Given the description of an element on the screen output the (x, y) to click on. 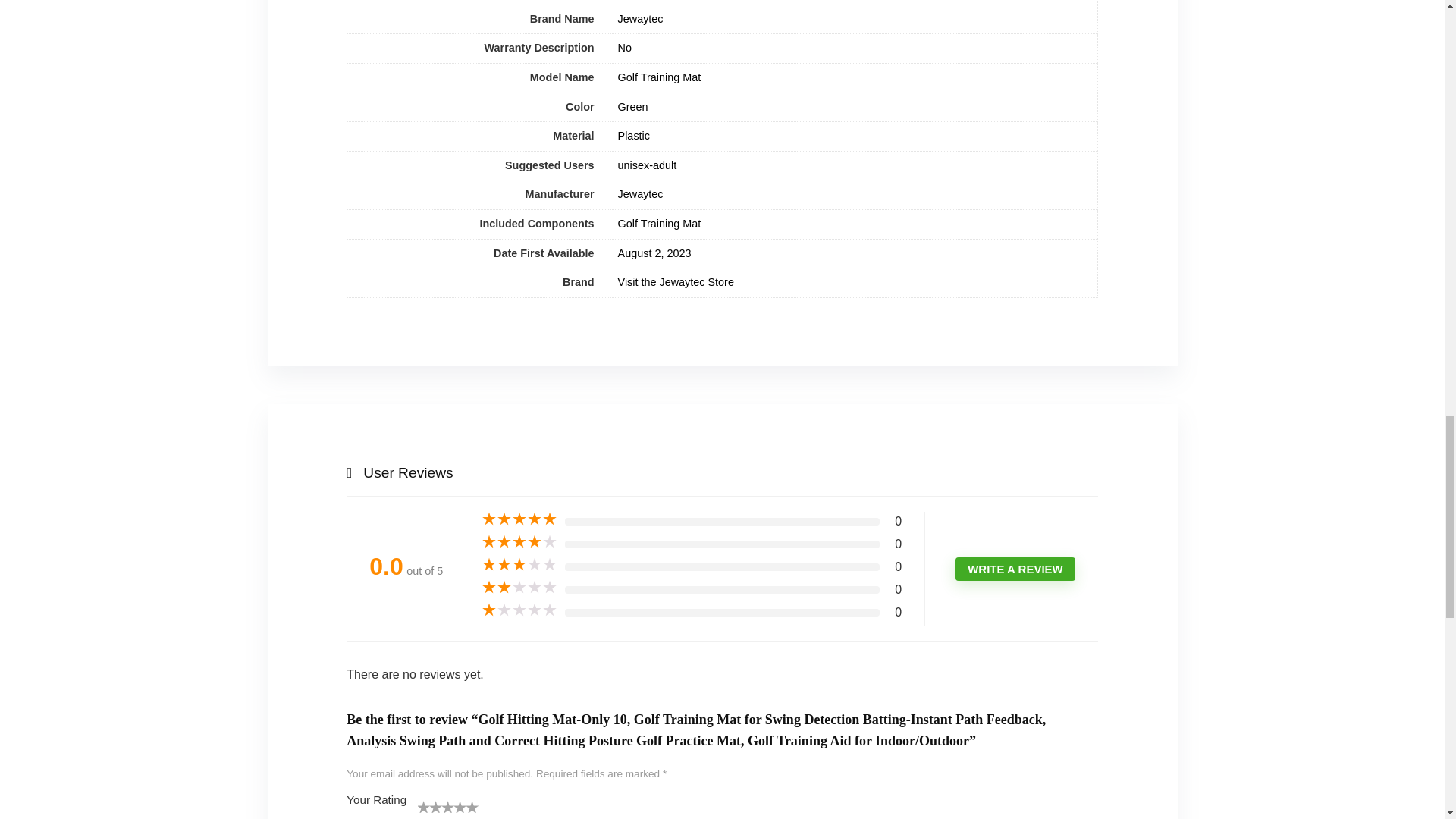
Rated 3 out of 5 (519, 564)
Rated 4 out of 5 (519, 541)
WRITE A REVIEW (1015, 568)
Rated 5 out of 5 (519, 519)
Rated 1 out of 5 (519, 610)
Rated 2 out of 5 (519, 587)
